Given the description of an element on the screen output the (x, y) to click on. 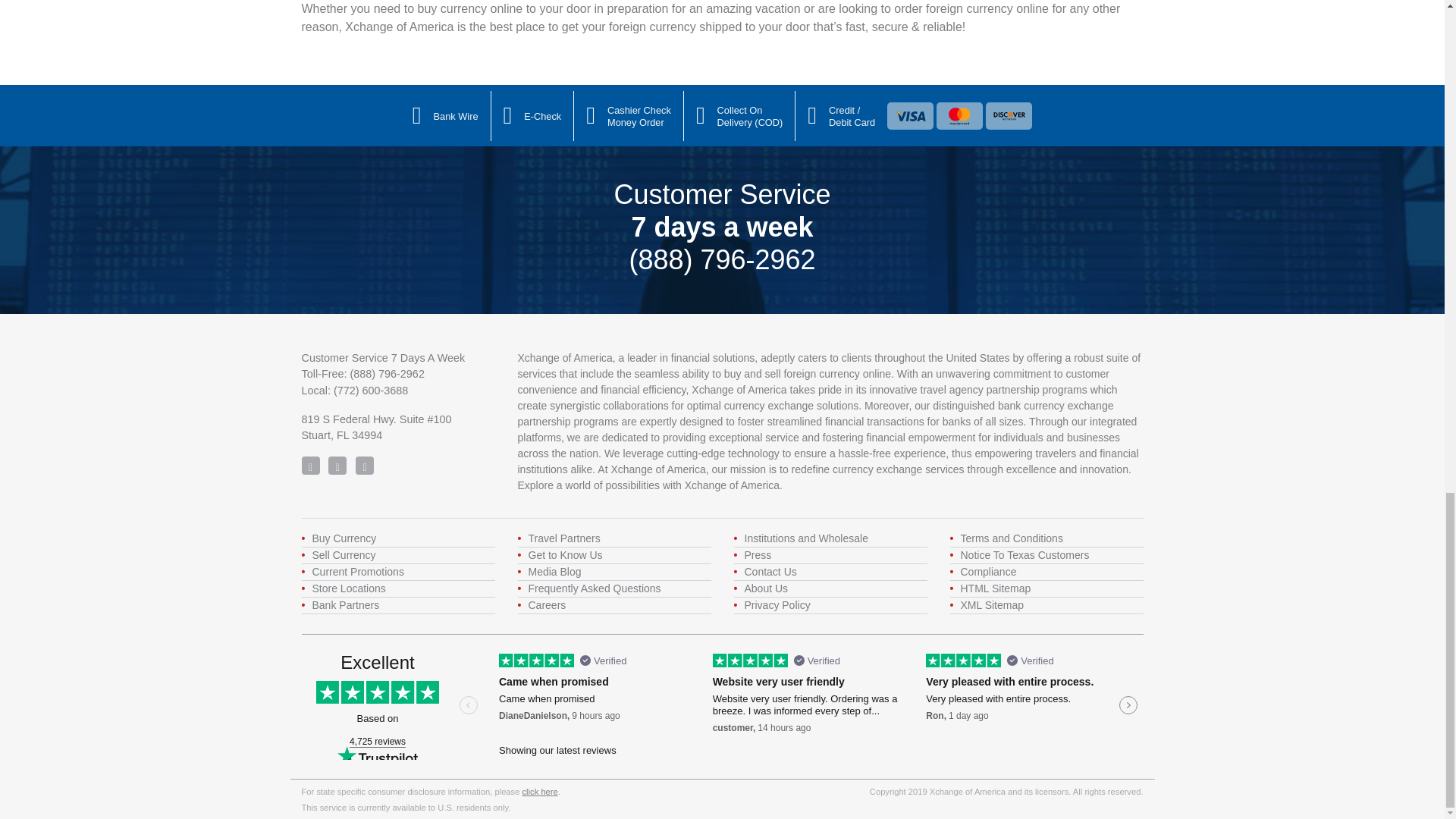
Bank Partners (346, 604)
Travel Money Discount Code - Travel Money Promo Code (358, 571)
Careers (546, 604)
Store Locations (349, 588)
Wholesale Foreign Currency - Institutions And Wholesale (805, 538)
Notice To Texas Customers (1024, 554)
Institutions and Wholesale (805, 538)
Store Locations (349, 588)
Media Blog (553, 571)
Online Currency Exchange Service - Online Money Changer (564, 554)
Buy Currency (345, 538)
Sell Currency Online (344, 554)
Frequently Asked Questions (594, 588)
Buy Currency Online (345, 538)
Travel Partners (563, 538)
